Given the description of an element on the screen output the (x, y) to click on. 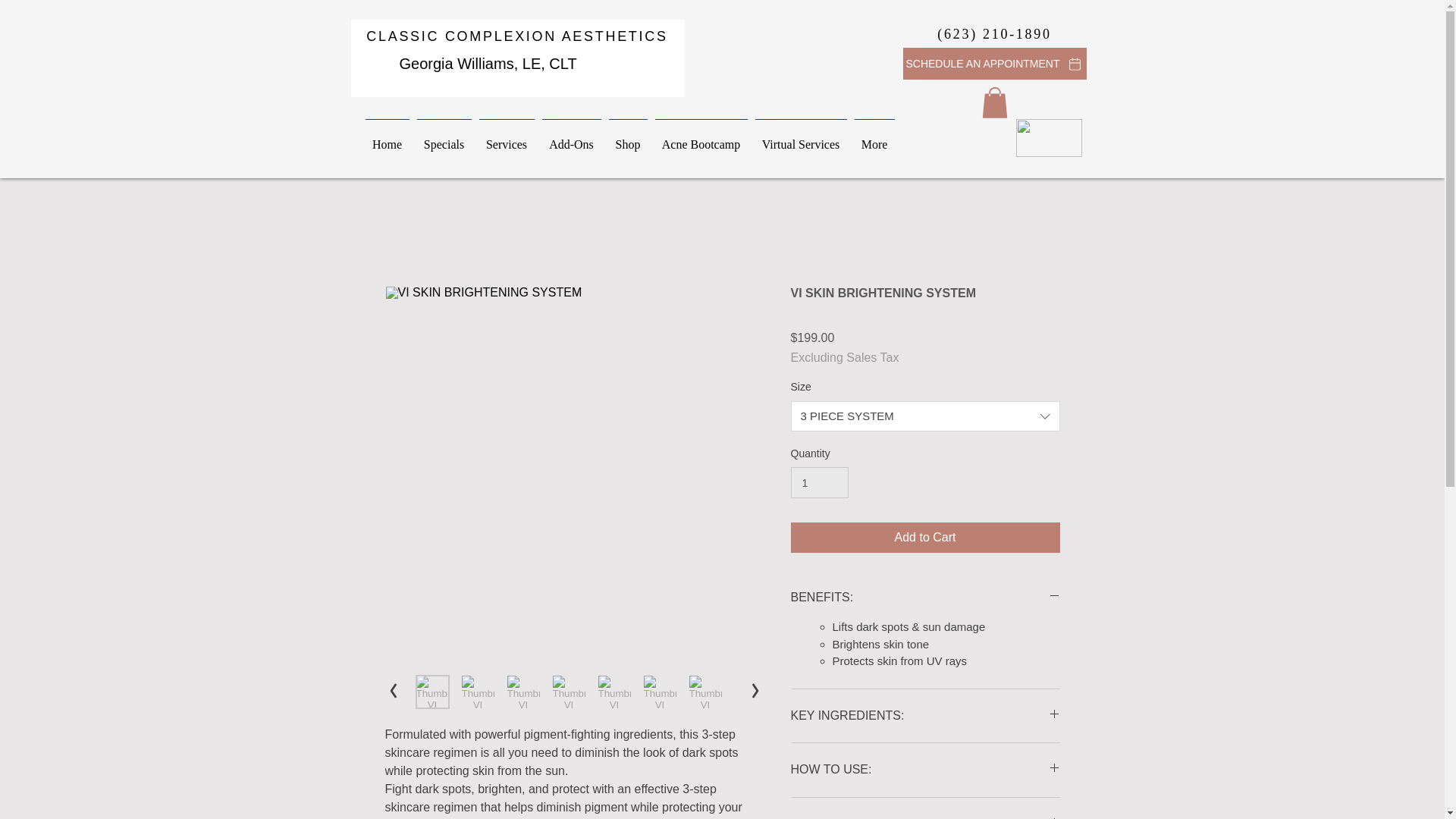
3 PIECE SYSTEM (924, 416)
Home (386, 137)
Virtual Services (800, 137)
1 (818, 481)
Add-Ons (571, 137)
SCHEDULE AN APPOINTMENT (994, 63)
Specials (443, 137)
